Given the description of an element on the screen output the (x, y) to click on. 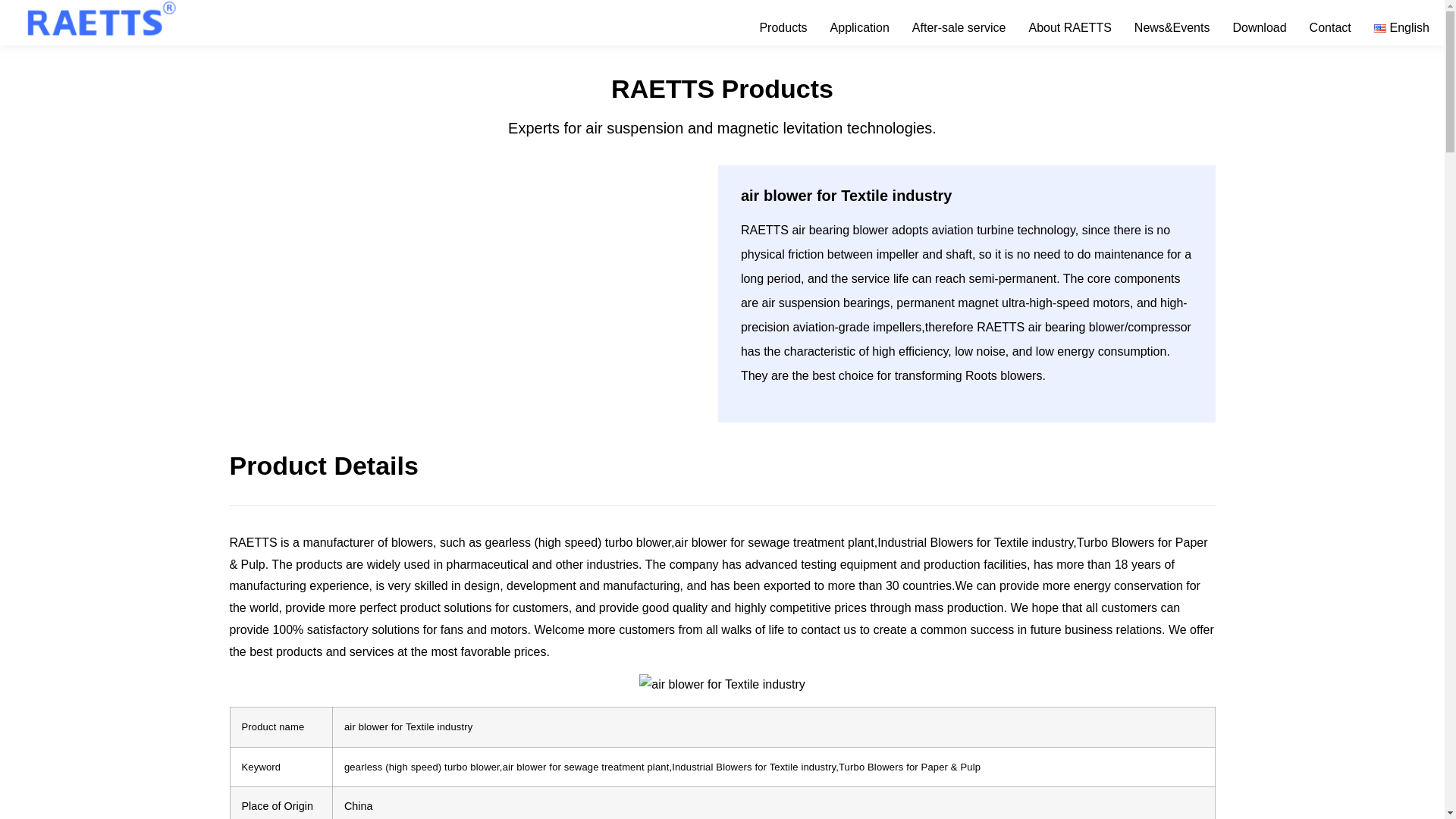
Download (1258, 27)
Contact (1329, 27)
air blower for Textile industry (722, 685)
Products (782, 27)
After-sale service (959, 27)
English (1401, 27)
Application (859, 27)
About RAETTS (1068, 27)
